Given the description of an element on the screen output the (x, y) to click on. 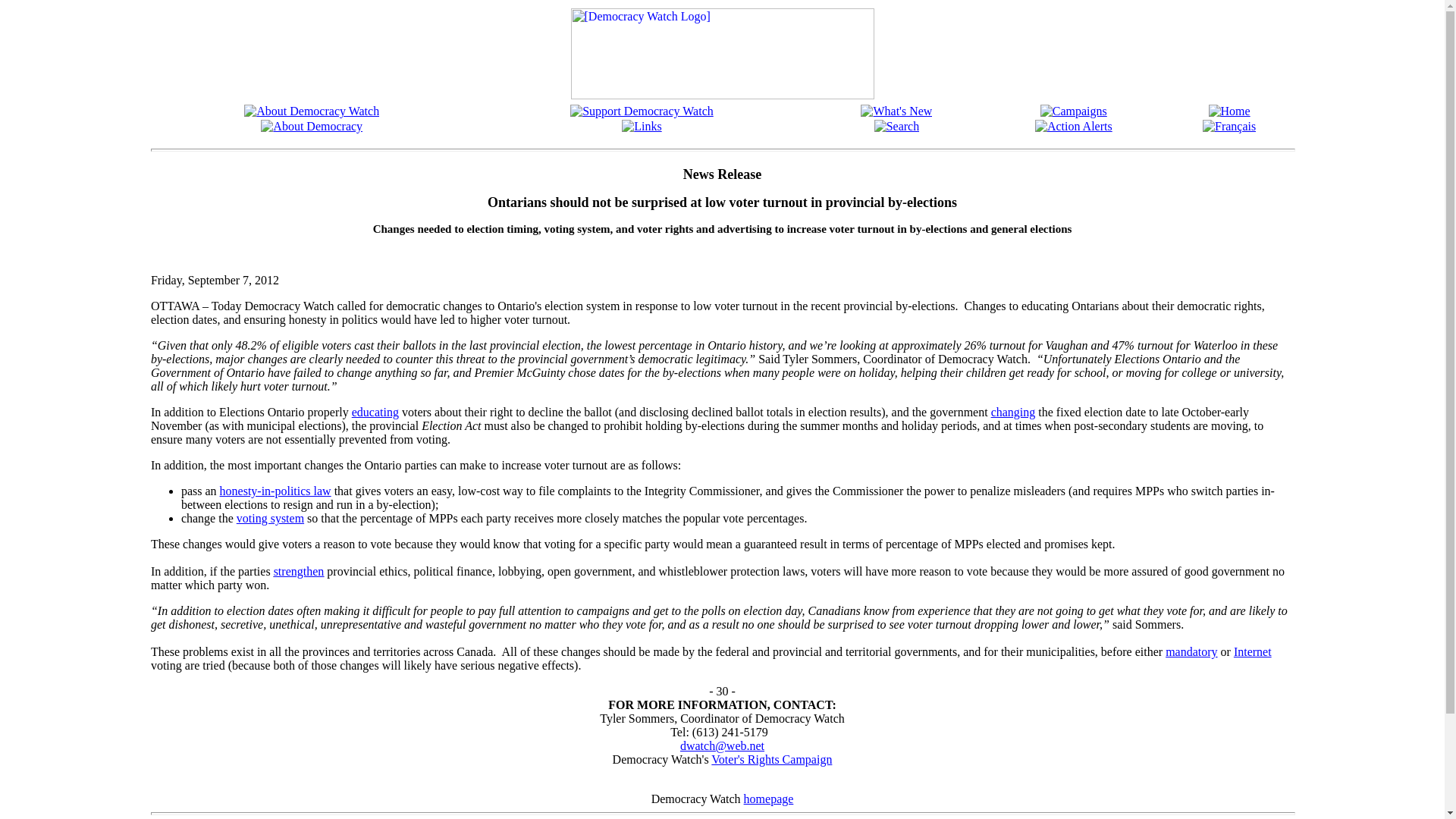
homepage (768, 798)
strengthen (298, 571)
Voter's Rights Campaign (771, 758)
Internet (1252, 651)
honesty-in-politics law (275, 490)
educating (375, 411)
mandatory (1191, 651)
voting system (269, 517)
changing (1013, 411)
